Given the description of an element on the screen output the (x, y) to click on. 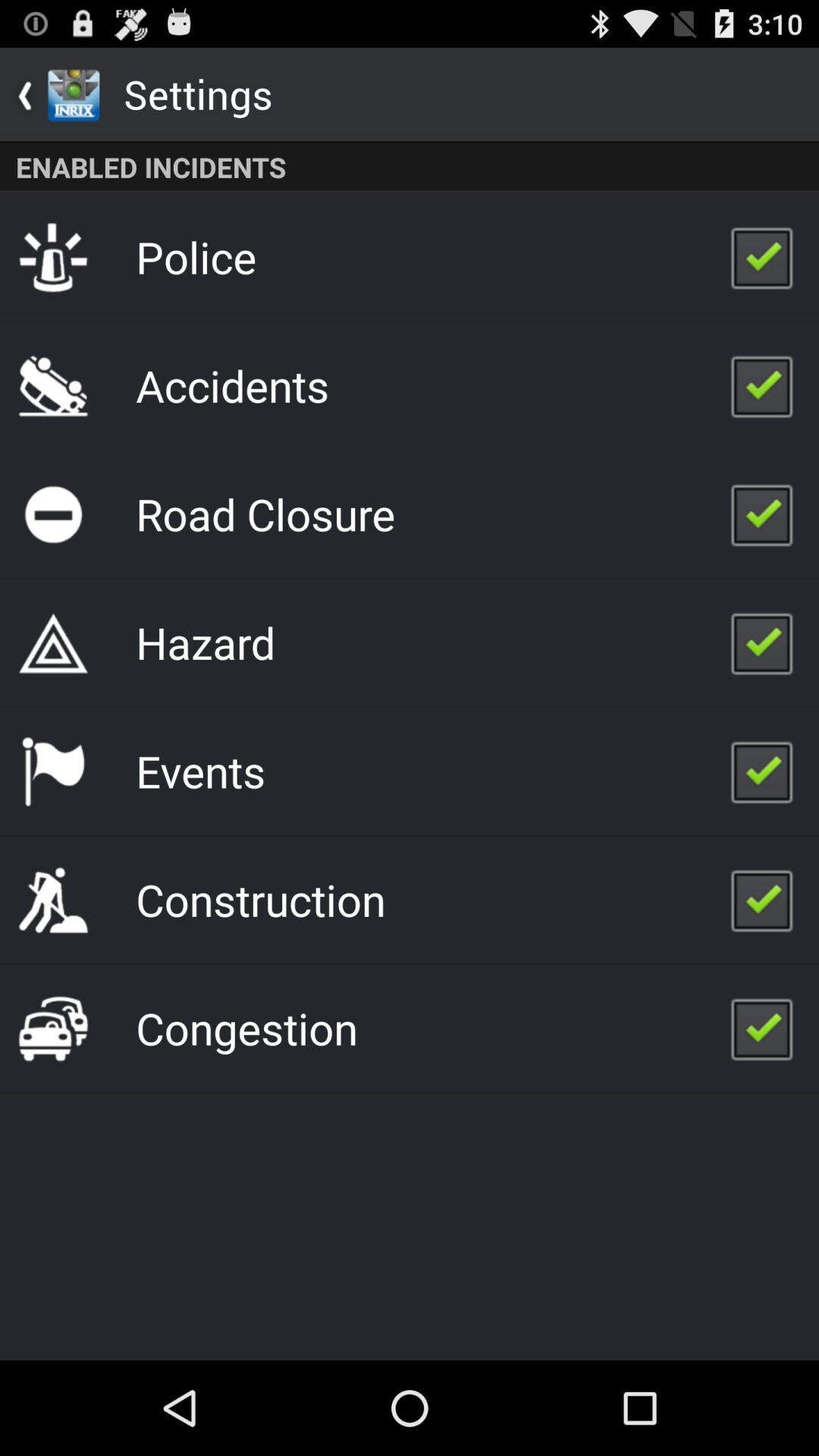
click construction item (260, 899)
